Given the description of an element on the screen output the (x, y) to click on. 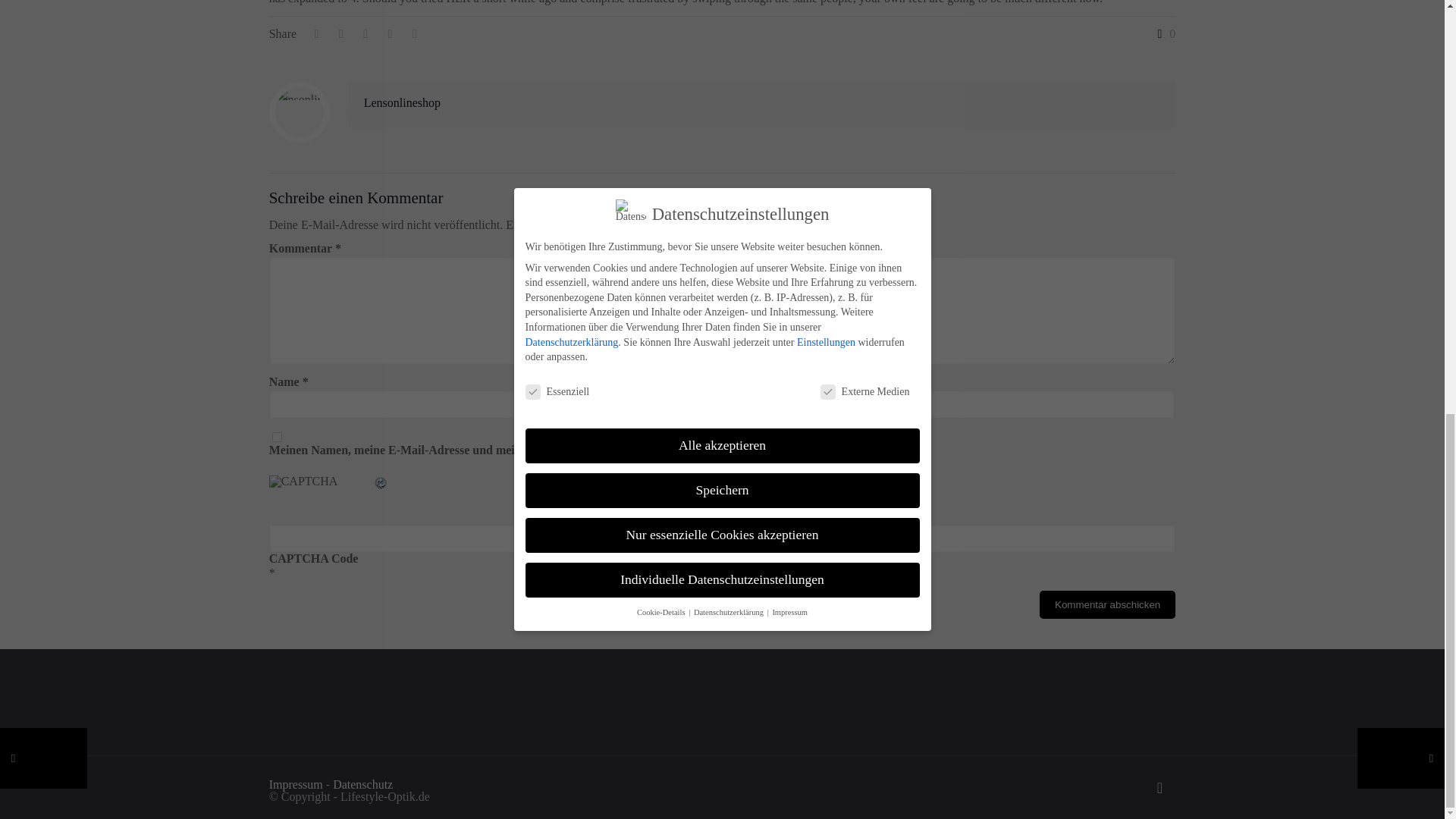
Lensonlineshop (402, 102)
CAPTCHA (320, 492)
Kommentar abschicken (1106, 604)
Kommentar abschicken (1106, 604)
Refresh (381, 483)
0 (1162, 33)
Datenschutz (363, 784)
yes (277, 437)
Impressum (296, 784)
